Given the description of an element on the screen output the (x, y) to click on. 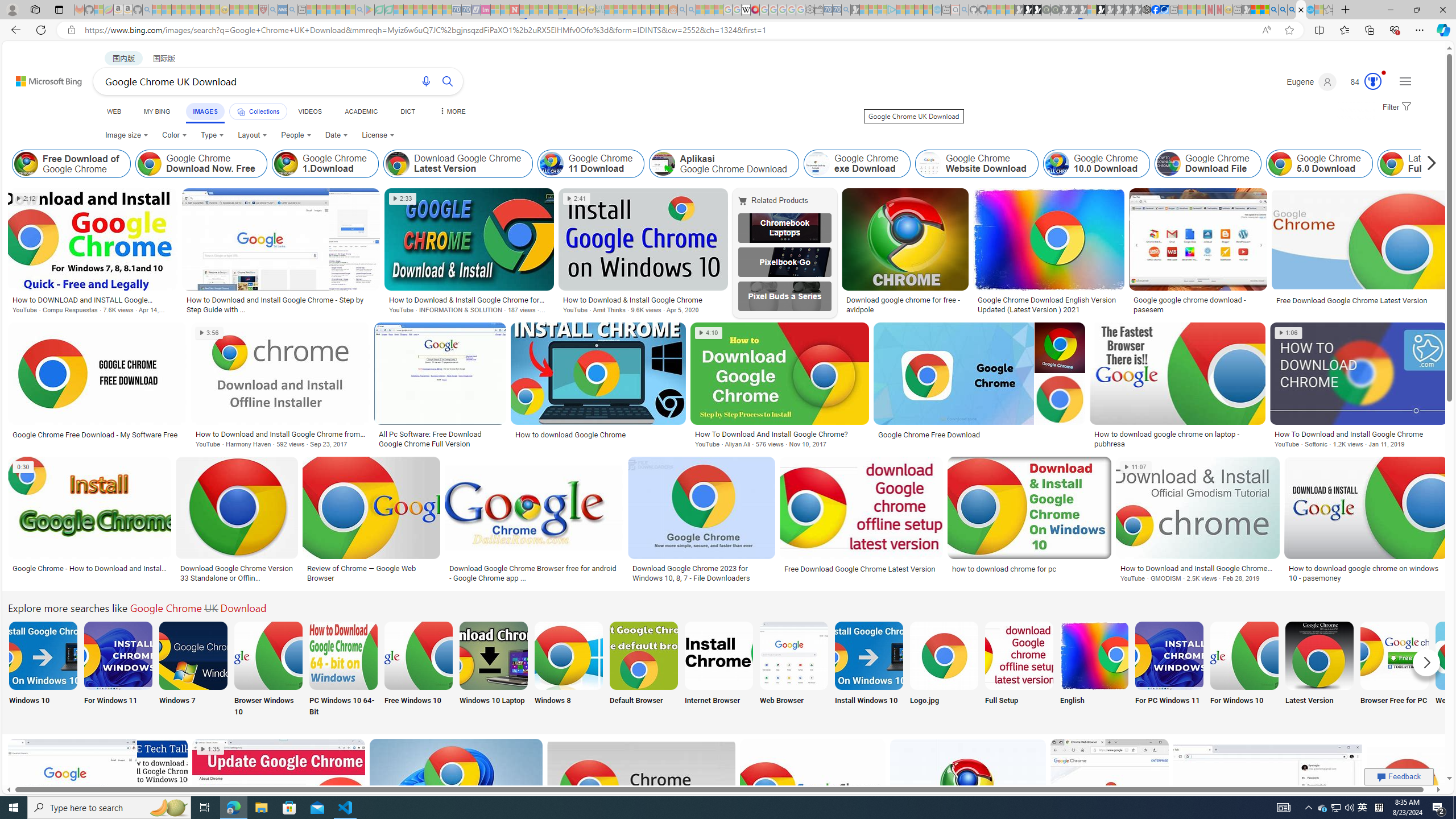
Bing AI - Search (1272, 9)
Microsoft Rewards 84 (1362, 81)
Google Chrome Internet Browser Download Internet Browser (718, 669)
Free Download Google Chrome Latest Version (860, 568)
ACADEMIC (360, 111)
4:10 (707, 332)
Download google chrome for free - avidpole (904, 304)
How To Download and Install Google Chrome (1358, 433)
11:07 (1136, 466)
Google google chrome download - pasesemSave (1199, 252)
Google Chrome 10.0 Download (1095, 163)
Search button (447, 80)
